Given the description of an element on the screen output the (x, y) to click on. 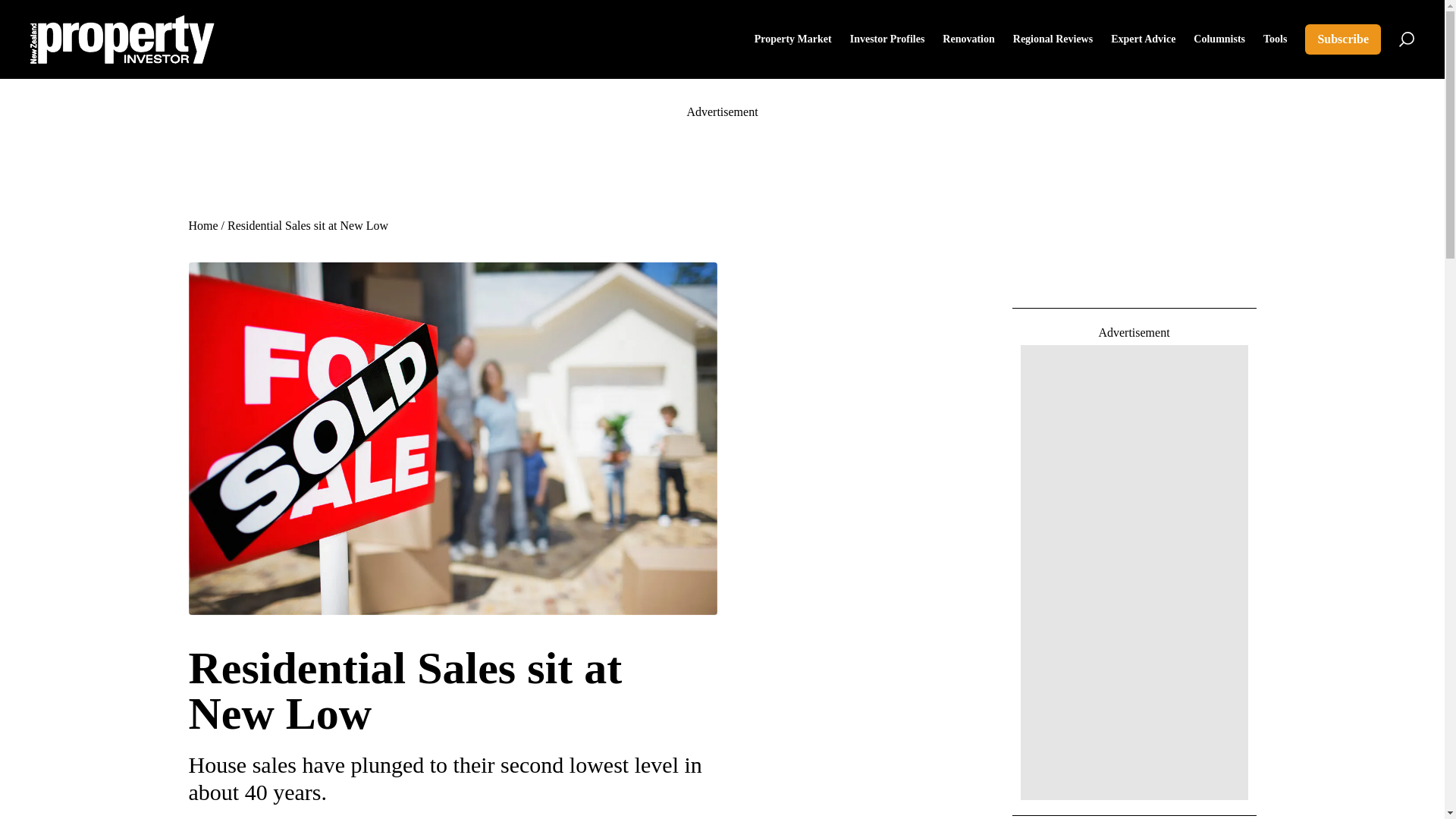
Home (201, 225)
Columnists (1218, 39)
Renovation (968, 39)
Tools (1275, 39)
Subscribe (1342, 39)
Regional Reviews (1053, 39)
Expert Advice (1142, 39)
Investor Profiles (887, 39)
Property Market (792, 39)
